Given the description of an element on the screen output the (x, y) to click on. 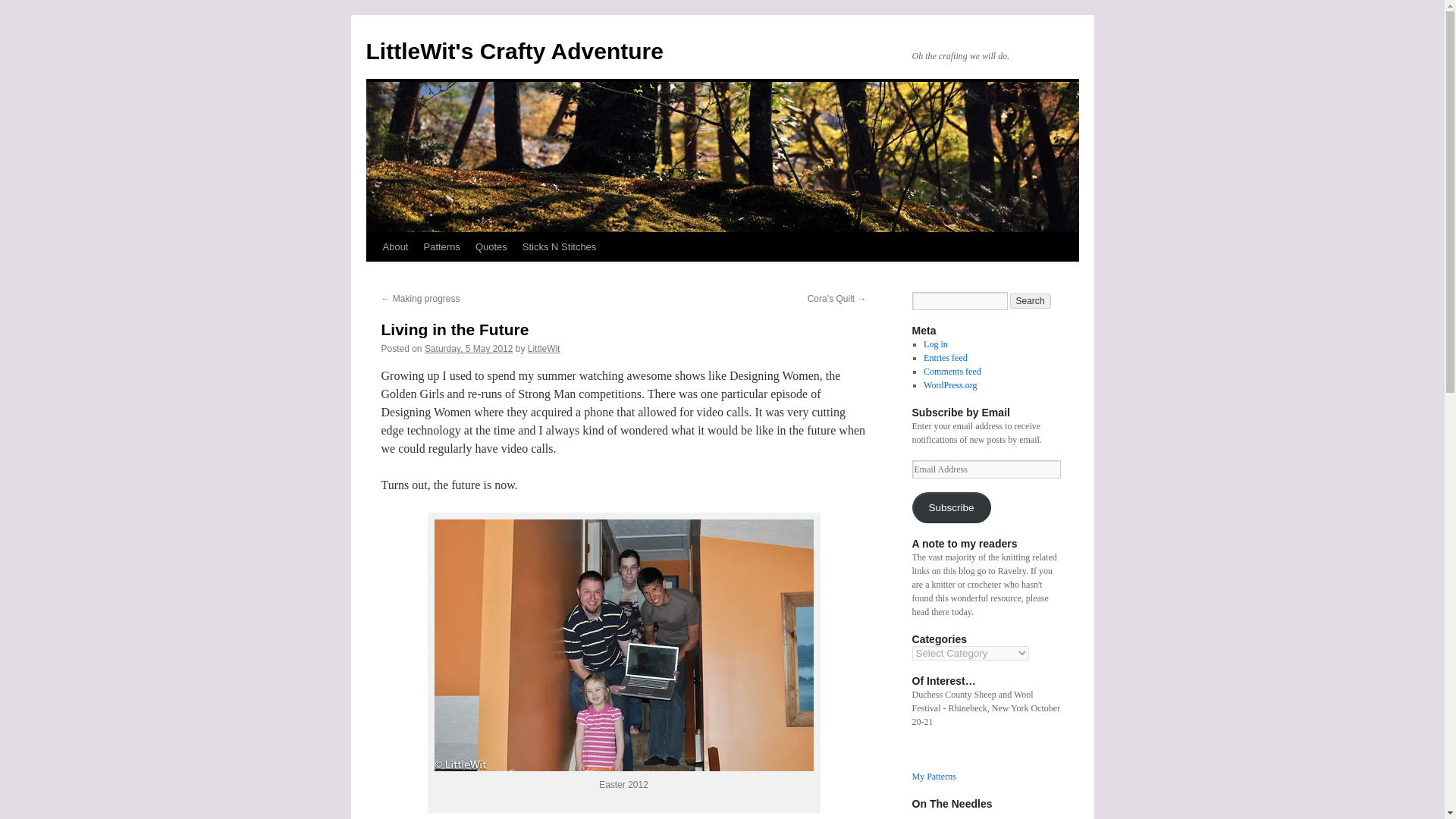
Log in (935, 344)
Entries feed (945, 357)
View all posts by LittleWit (543, 348)
Subscribe (950, 507)
About (394, 246)
Comments feed (952, 371)
09:49 (469, 348)
LittleWit's Crafty Adventure (513, 50)
Patterns (440, 246)
LittleWit (543, 348)
Saturday, 5 May 2012 (469, 348)
Easter 2012 by littlewit, on Flickr (623, 766)
Quotes (491, 246)
Search (1030, 300)
Sticks N Stitches (559, 246)
